Given the description of an element on the screen output the (x, y) to click on. 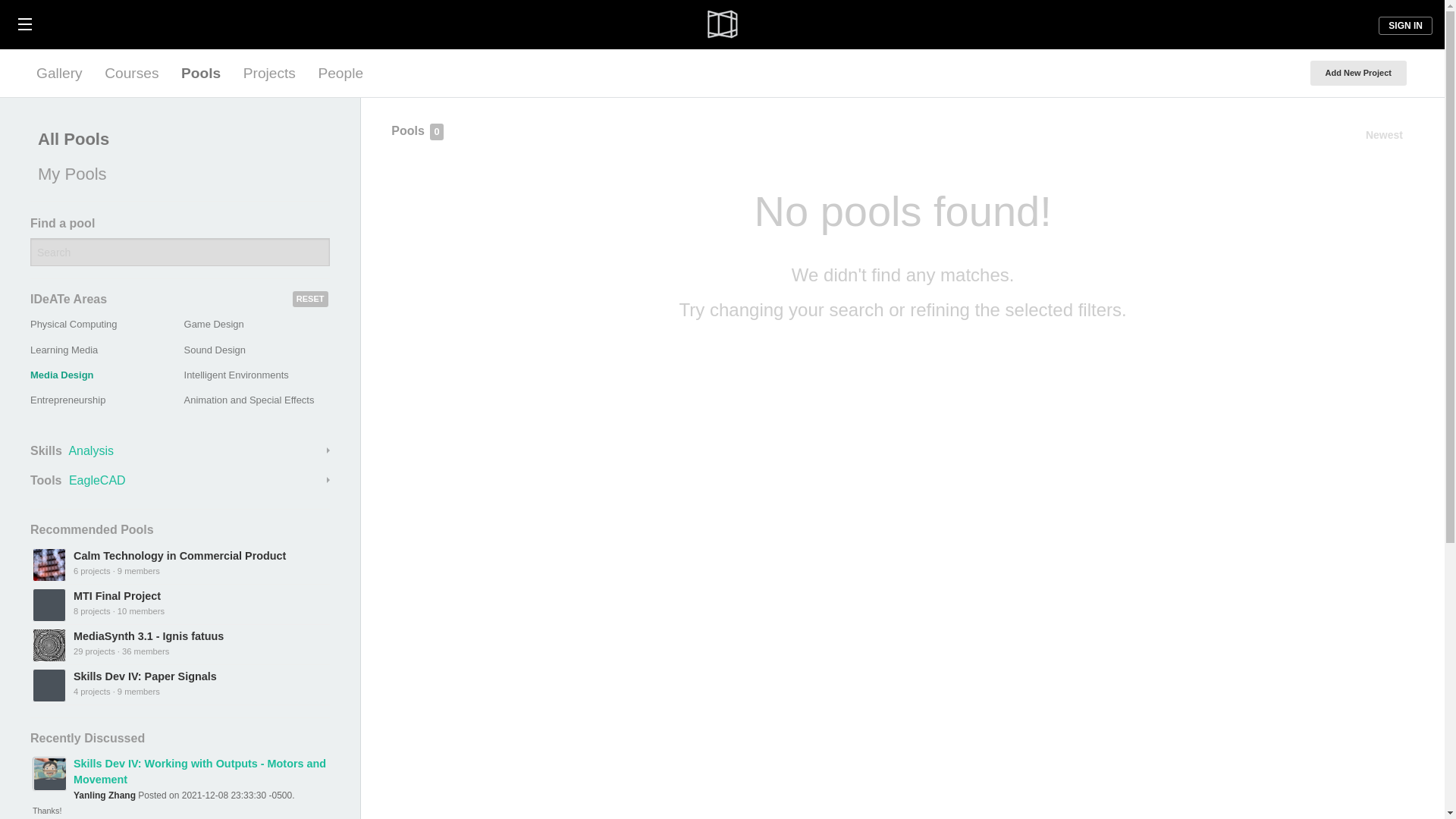
Game Design (214, 324)
Gallery (59, 73)
Projects (268, 73)
My Pools (175, 174)
Physical Computing (73, 324)
Courses (131, 73)
All Pools (175, 139)
Entrepreneurship (67, 399)
Pools (200, 73)
Intelligent Environments (236, 374)
Animation and Special Effects (249, 399)
Add New Project (1358, 72)
SIGN IN (1405, 25)
Media Design (62, 374)
RESET (310, 299)
